Given the description of an element on the screen output the (x, y) to click on. 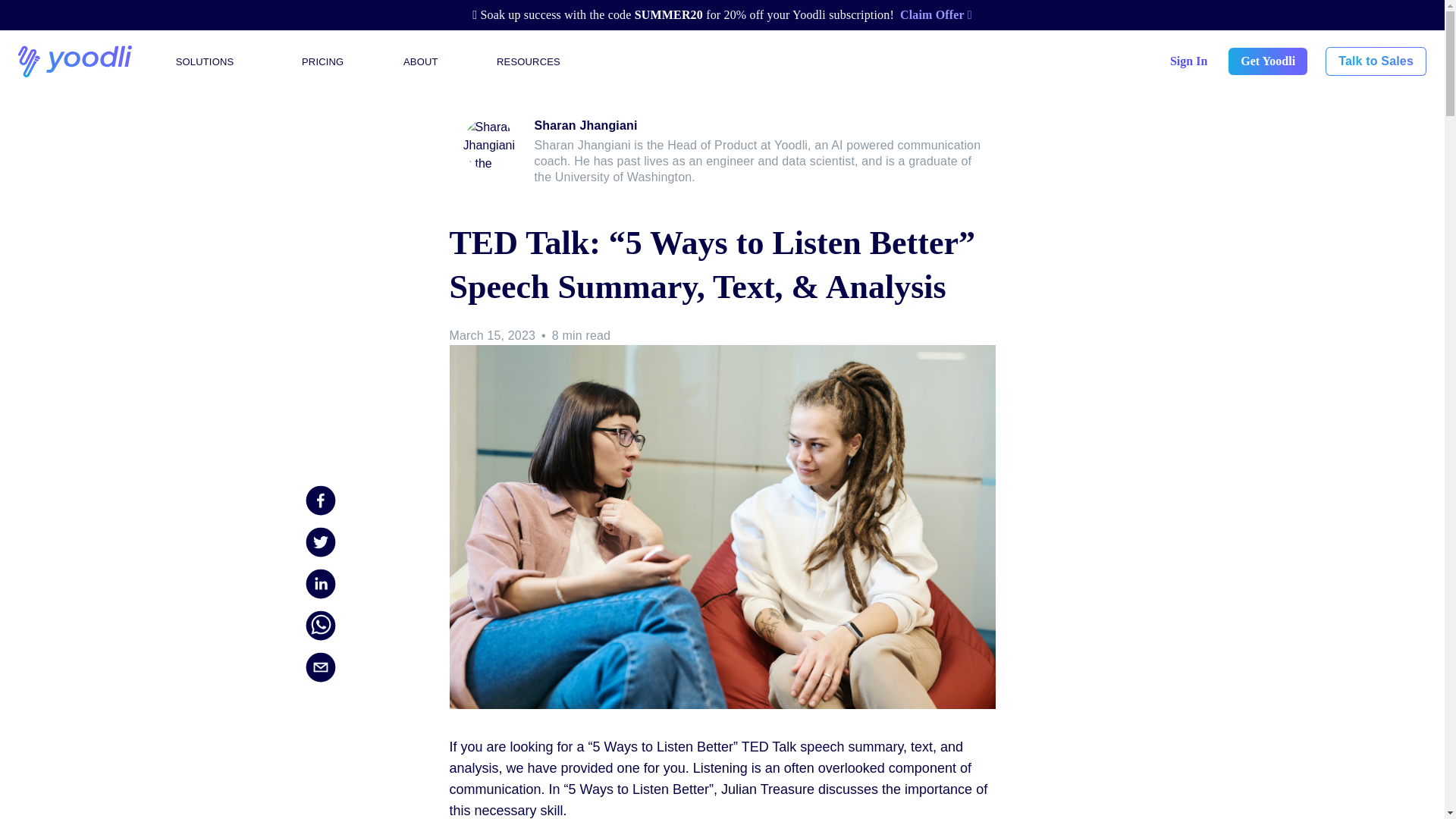
Get Yoodli (1267, 61)
Talk to Sales (1375, 61)
Sign In (1188, 61)
PRICING (321, 62)
